Given the description of an element on the screen output the (x, y) to click on. 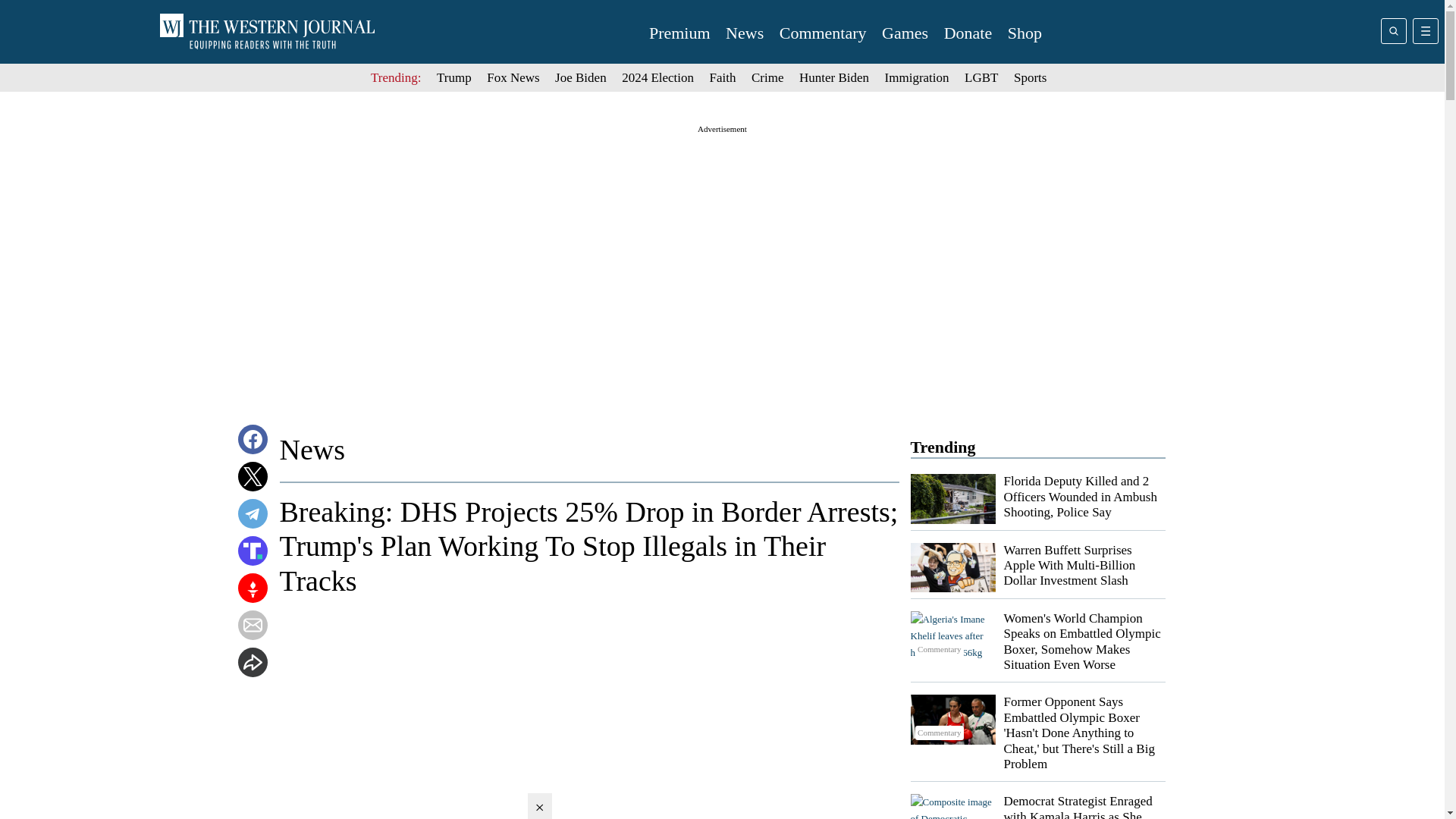
Shop (1024, 32)
Immigration (917, 77)
Commentary (952, 806)
Sports (1029, 77)
Trump (453, 77)
Faith (723, 77)
Fox News (512, 77)
News (743, 32)
Joe Biden (580, 77)
Hunter Biden (834, 77)
Commentary (822, 32)
